Given the description of an element on the screen output the (x, y) to click on. 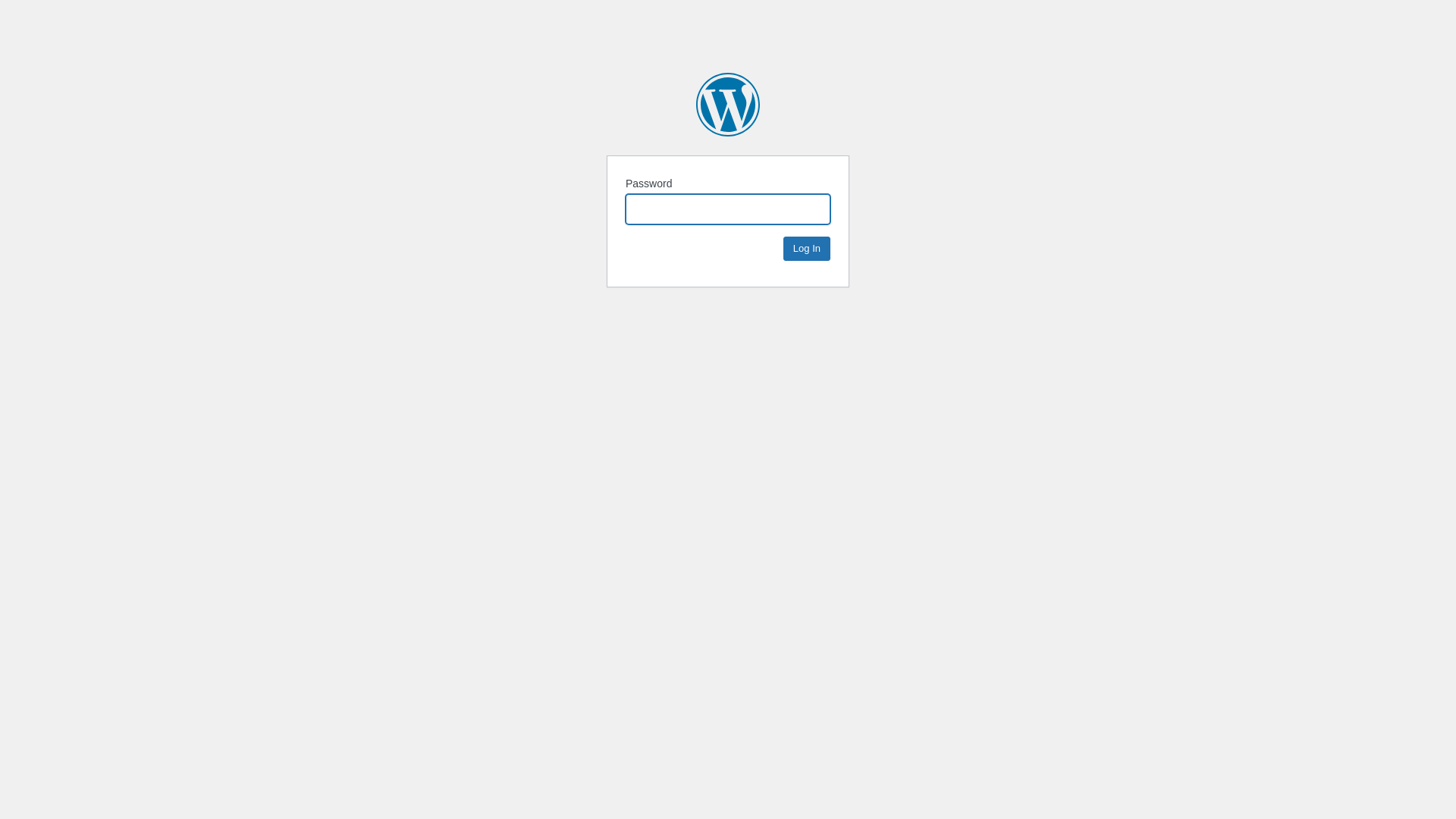
MAZ-MAN Element type: text (727, 104)
Log In Element type: text (806, 248)
